Given the description of an element on the screen output the (x, y) to click on. 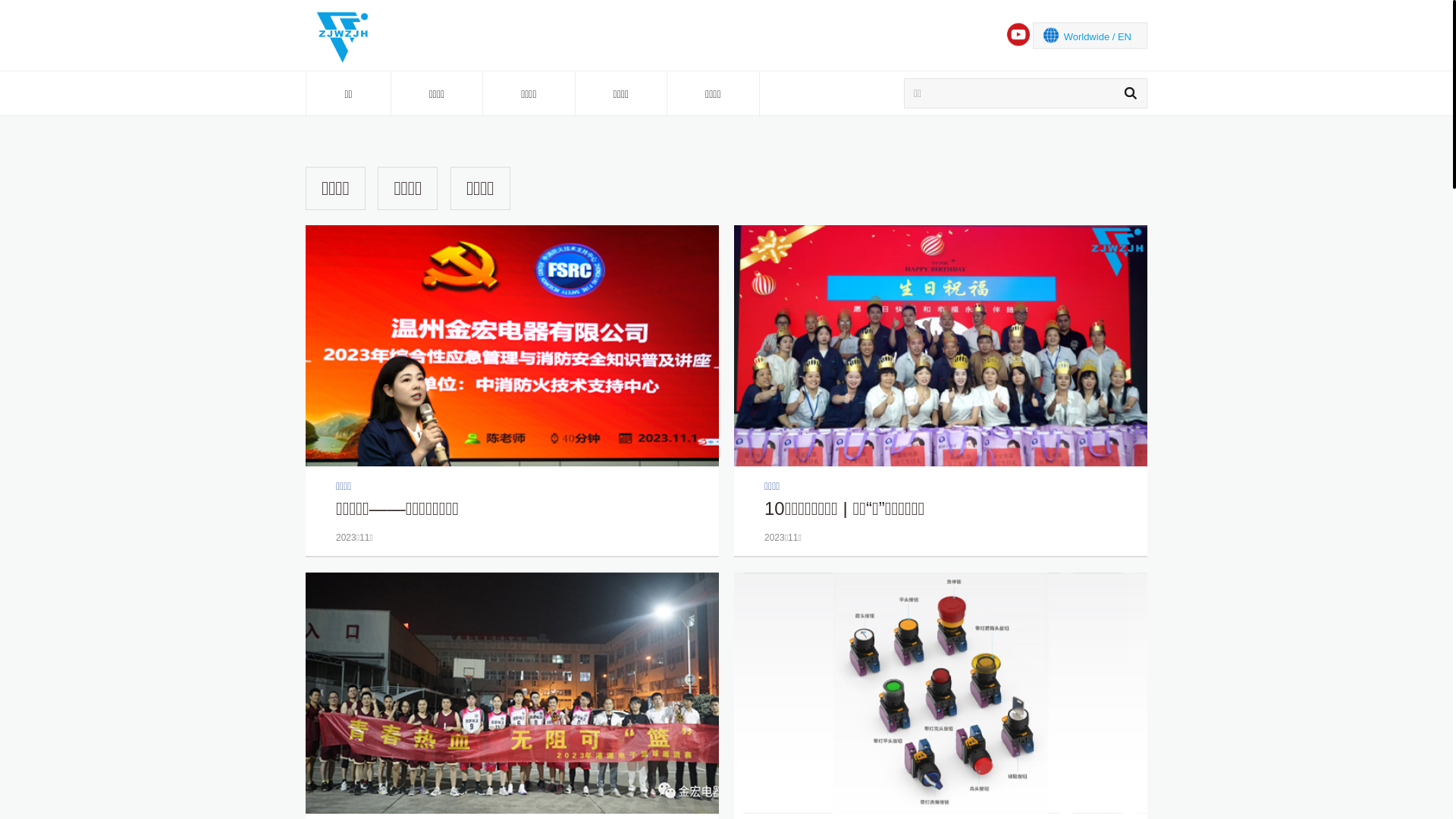
Worldwide / EN Element type: text (1089, 34)
SEARCH Element type: text (1130, 93)
